Given the description of an element on the screen output the (x, y) to click on. 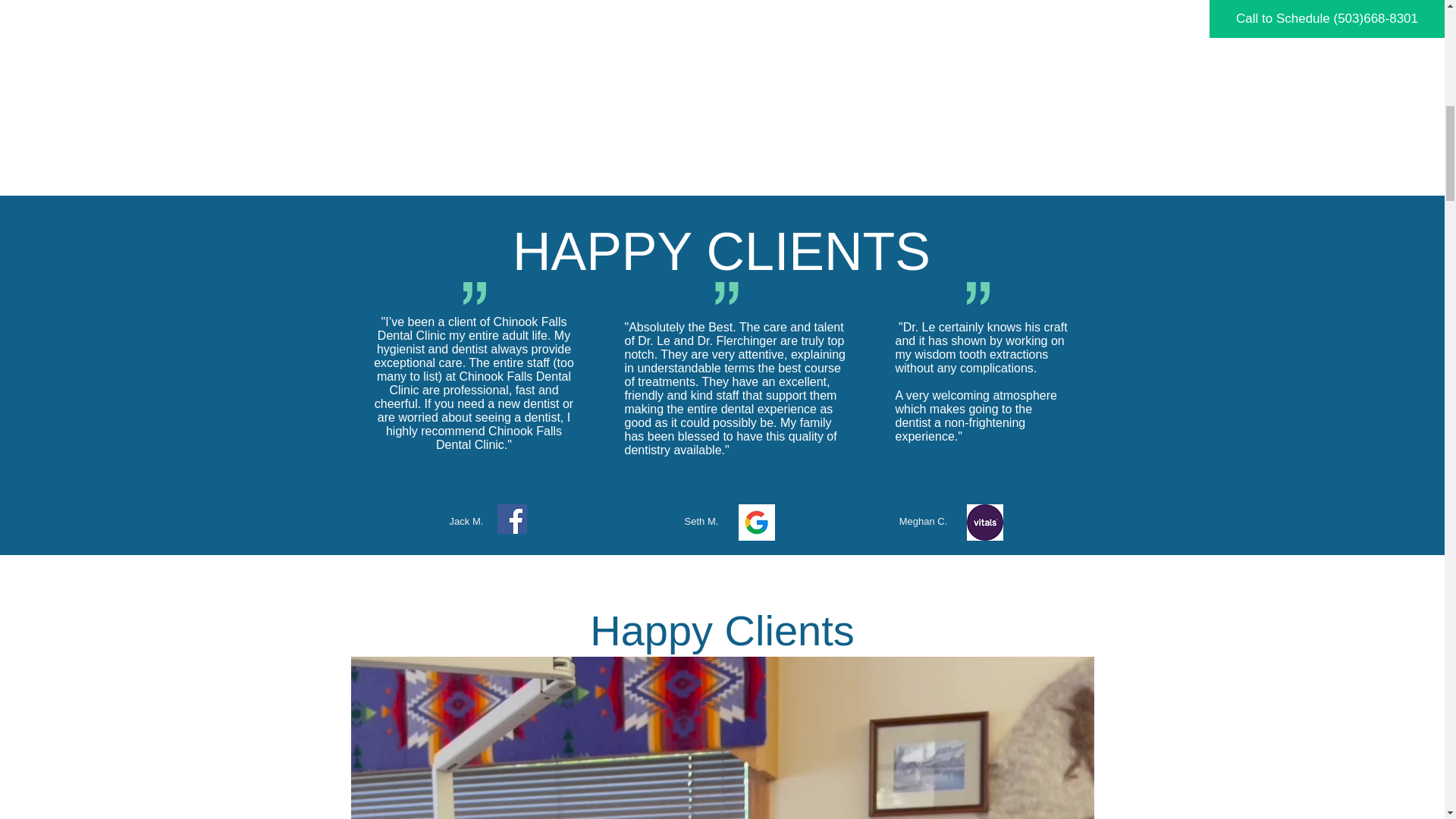
google icon.jpg (756, 522)
vitals.png (984, 522)
